Given the description of an element on the screen output the (x, y) to click on. 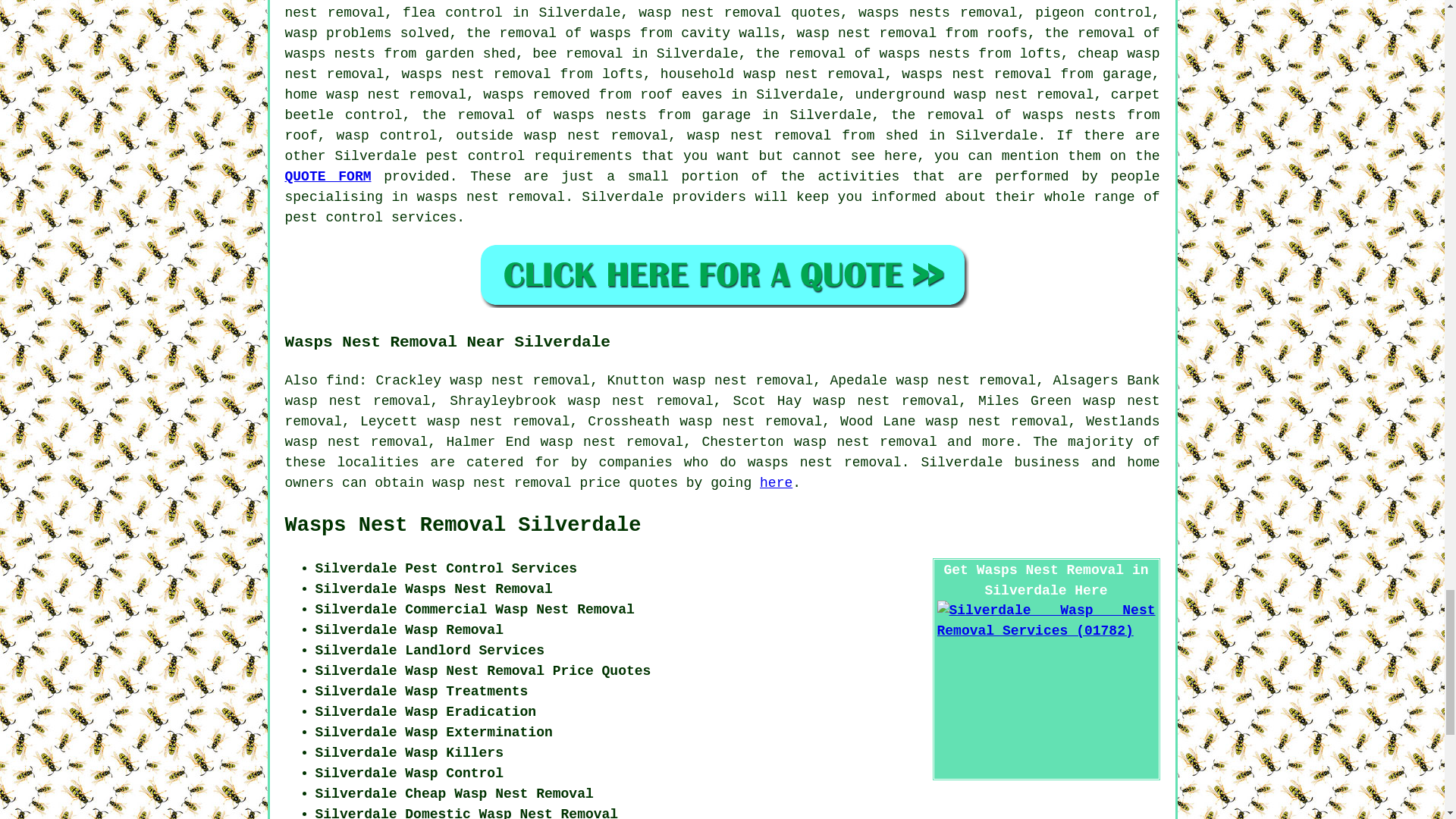
cheap wasp nest removal (722, 63)
wasp nest removal (596, 135)
pest control (474, 155)
